Given the description of an element on the screen output the (x, y) to click on. 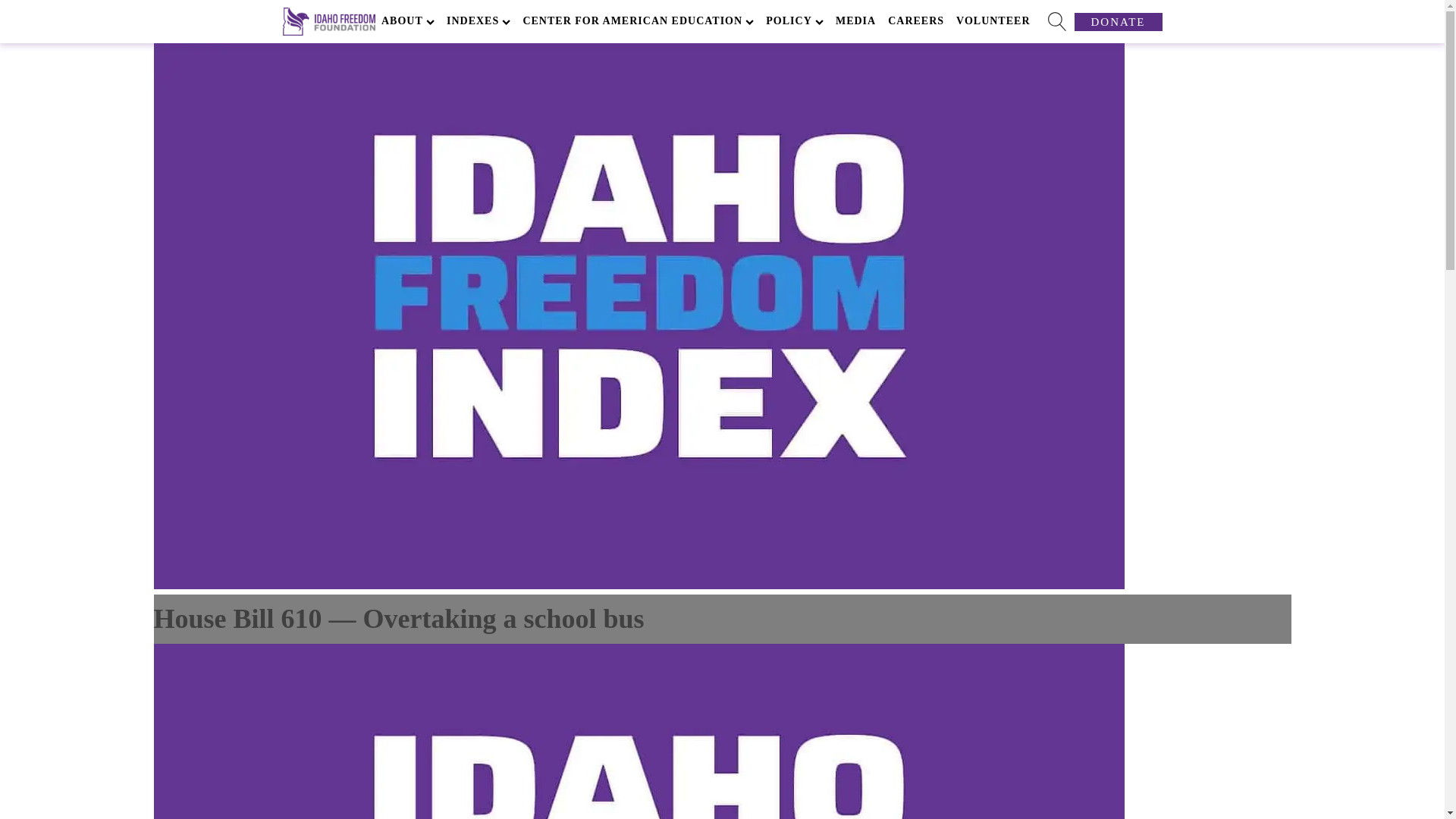
CENTER FOR AMERICAN EDUCATION (638, 20)
POLICY (794, 20)
DONATE (1117, 22)
CAREERS (916, 20)
INDEXES (478, 20)
VOLUNTEER (992, 20)
ABOUT (408, 20)
MEDIA (855, 20)
